Given the description of an element on the screen output the (x, y) to click on. 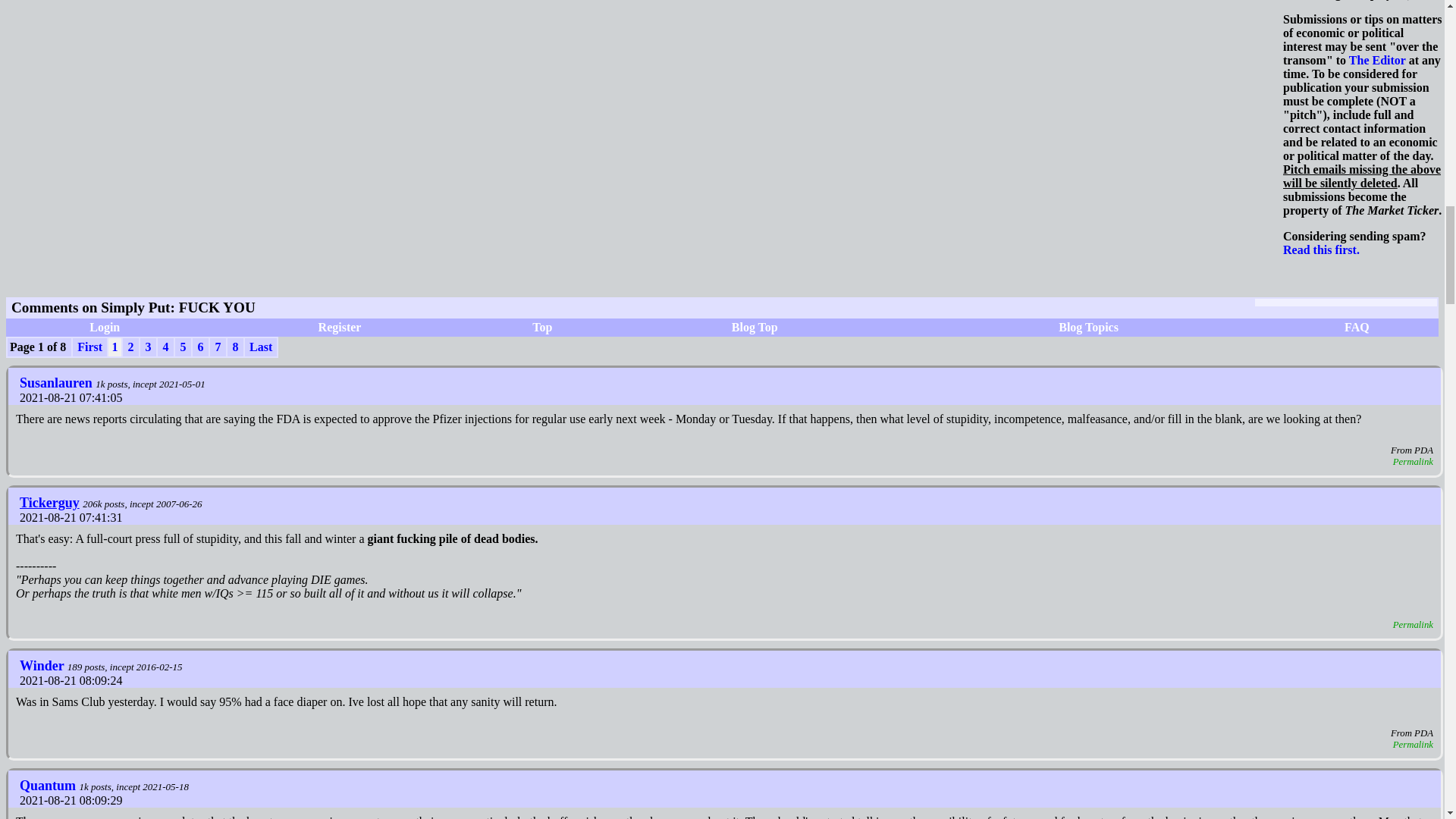
Blog Topics (1088, 327)
Top (541, 327)
Blog Top (754, 327)
Login (103, 327)
Logged in (51, 502)
Register (339, 327)
First (89, 346)
The Editor (1377, 60)
FAQ (1356, 327)
Read this first. (1320, 249)
